Given the description of an element on the screen output the (x, y) to click on. 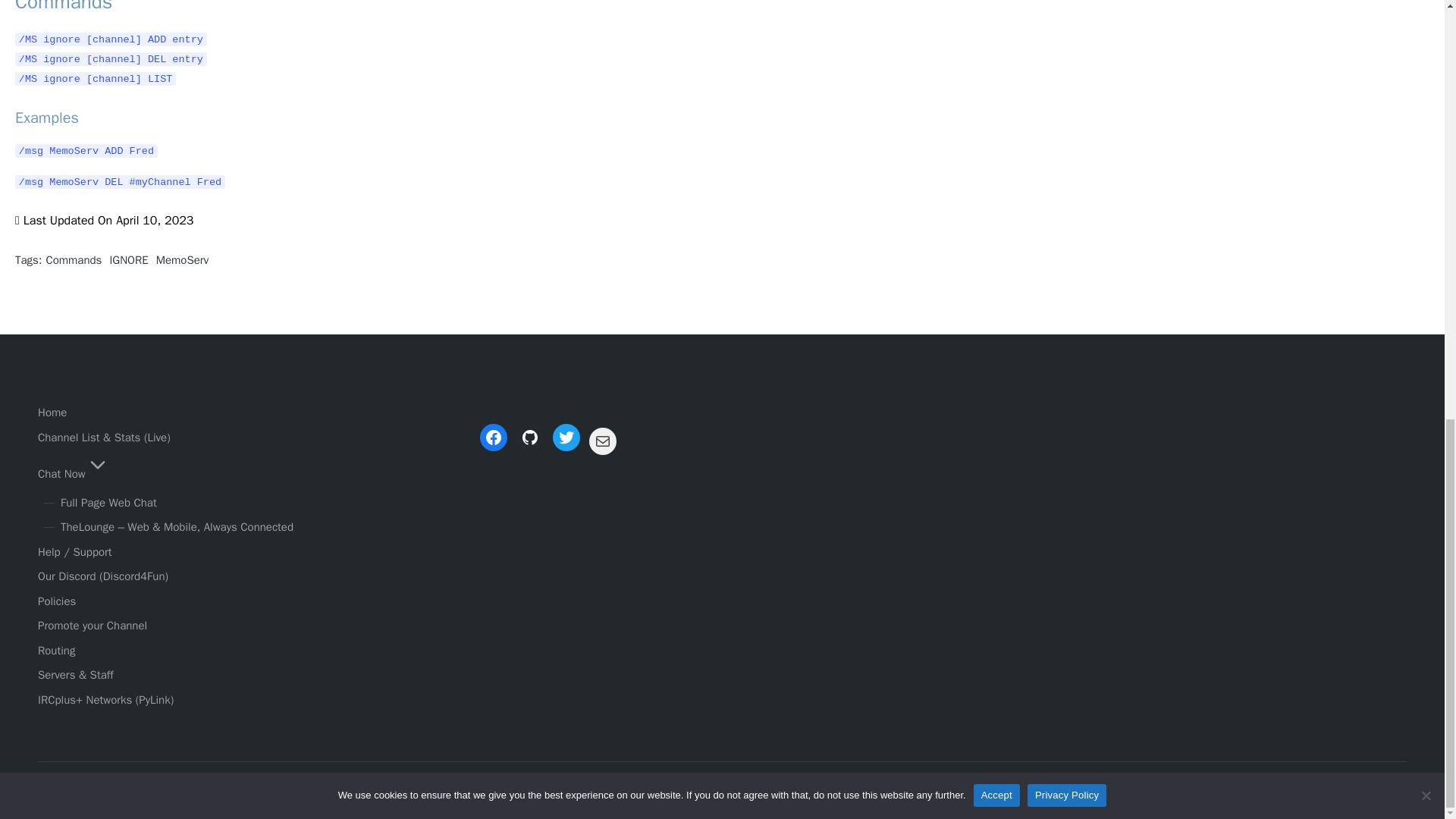
MemoServ (182, 259)
IGNORE (128, 259)
Chat Now (73, 473)
Commands (73, 259)
Home (51, 412)
Full Page Web Chat (109, 502)
